Given the description of an element on the screen output the (x, y) to click on. 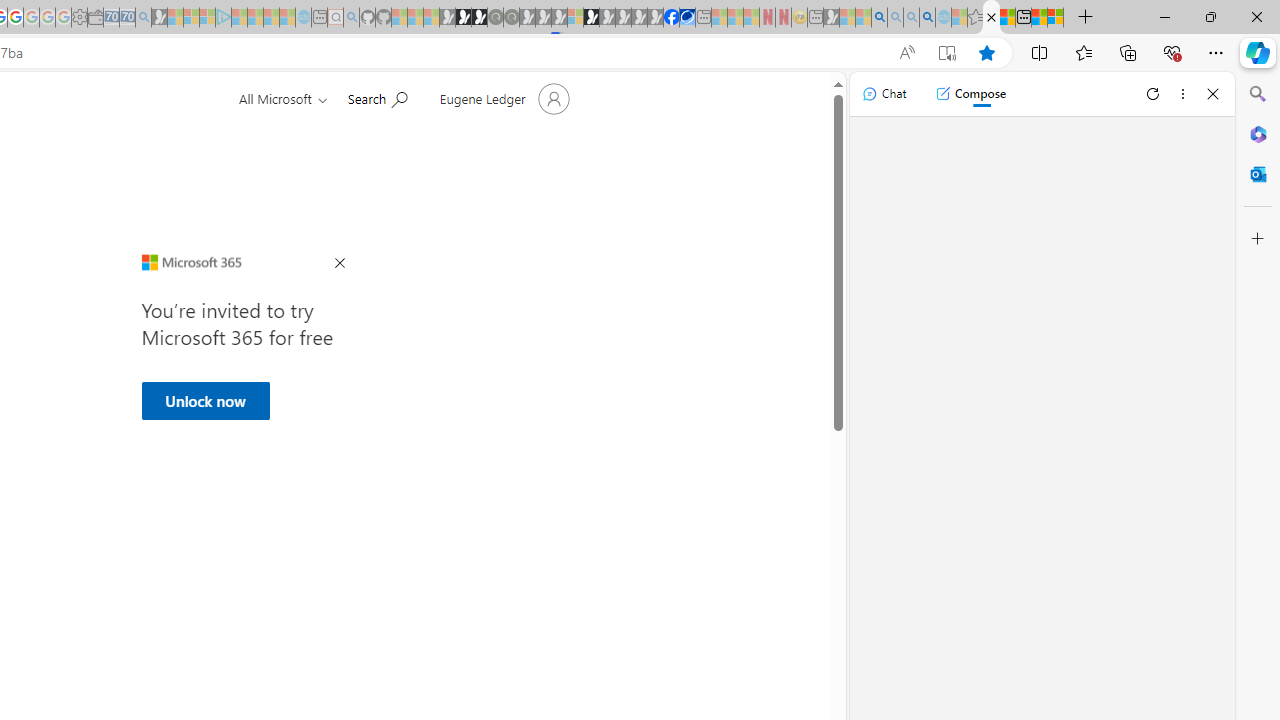
Google Chrome Internet Browser Download - Search Images (927, 17)
Nordace | Facebook (671, 17)
Unlock now (205, 399)
Future Focus Report 2024 - Sleeping (511, 17)
MSN - Sleeping (831, 17)
